Given the description of an element on the screen output the (x, y) to click on. 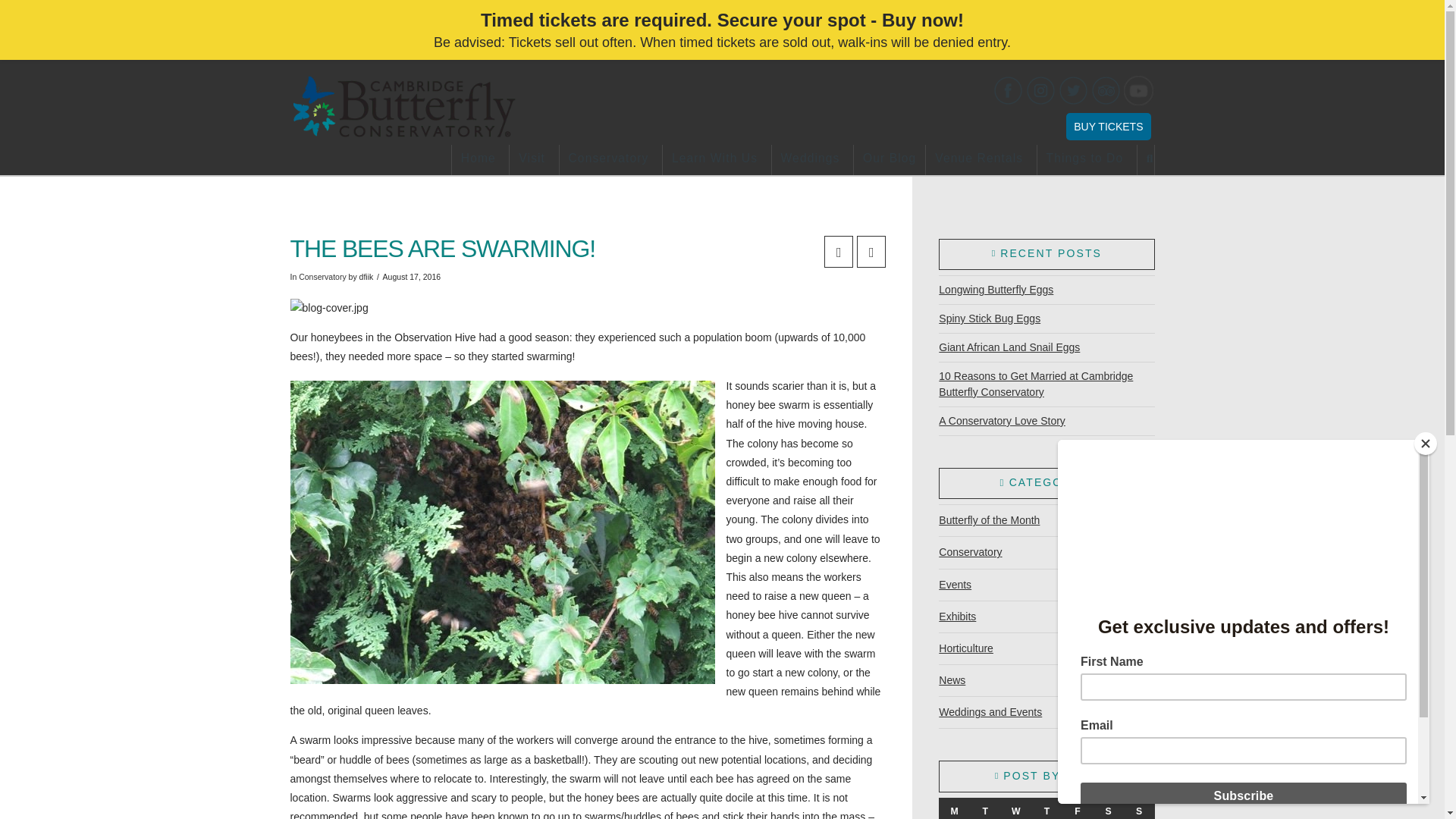
Visit (534, 159)
Home (480, 159)
Tuesday (985, 808)
Monday (954, 808)
Learn With Us (716, 159)
Friday (1077, 808)
BUY TICKETS (1107, 126)
Conservatory (610, 159)
Wednesday (1016, 808)
Saturday (1108, 808)
Thursday (1046, 808)
Sunday (1139, 808)
